Given the description of an element on the screen output the (x, y) to click on. 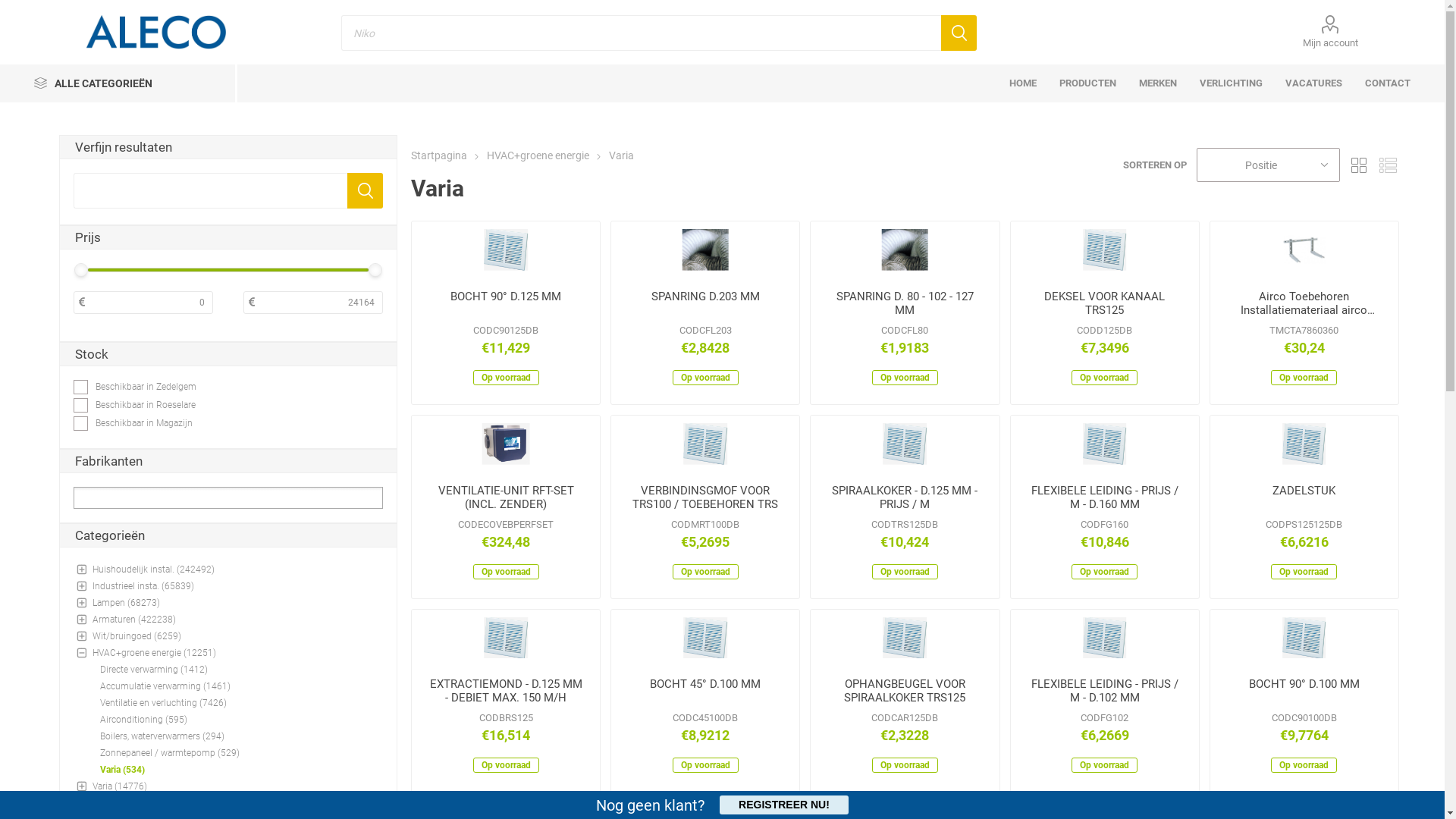
SPANRING D. 80 - 102 - 127 MM Element type: text (904, 303)
Toon details van SPANRING D.203 MM Element type: hover (705, 249)
SPIRAALKOKER - D.125 MM - PRIJS / M Element type: text (904, 497)
EXTRACTIEMOND - D.125 MM - DEBIET MAX. 150 M/H Element type: text (505, 691)
Industrieel insta. (65839) Element type: text (143, 585)
ZOEK Element type: text (958, 32)
SPANRING D.203 MM Element type: text (705, 303)
Home building automation (6968) Element type: text (161, 802)
Toon details van DEKSEL VOOR KANAAL TRS125 Element type: hover (1104, 249)
Toon details van ZADELSTUK Element type: hover (1304, 443)
MERKEN Element type: text (1157, 83)
Varia (534) Element type: text (122, 769)
Boilers, waterverwarmers (294) Element type: text (162, 736)
HVAC+groene energie Element type: text (538, 155)
Airconditioning (595) Element type: text (143, 719)
ZOEK Element type: text (364, 190)
Armaturen (422238) Element type: text (133, 619)
Airco Toebehoren Installatiemateriaal airco MS230 Element type: text (1304, 303)
DEKSEL VOOR KANAAL TRS125 Element type: text (1104, 303)
VERBINDINSGMOF VOOR TRS100 / TOEBEHOREN TRS Element type: text (705, 497)
Toon details van FLEXIBELE LEIDING - PRIJS / M - D.102 MM Element type: hover (1104, 637)
OPHANGBEUGEL VOOR SPIRAALKOKER TRS125 Element type: text (904, 691)
REGISTREER NU! Element type: text (783, 804)
HVAC+groene energie (12251) Element type: text (154, 652)
Aleco Element type: hover (155, 32)
Accumulatie verwarming (1461) Element type: text (165, 685)
Zonnepaneel / warmtepomp (529) Element type: text (169, 752)
Directe verwarming (1412) Element type: text (153, 669)
TABEL Element type: text (1358, 164)
PRODUCTEN Element type: text (1087, 83)
Toon details van SPANRING D. 80 - 102 - 127 MM Element type: hover (904, 249)
VACATURES Element type: text (1313, 83)
Ventilatie en verluchting (7426) Element type: text (163, 702)
Lampen (68273) Element type: text (126, 602)
HOME Element type: text (1022, 83)
Toon details van OPHANGBEUGEL VOOR SPIRAALKOKER TRS125 Element type: hover (905, 637)
Toon details van FLEXIBELE LEIDING - PRIJS / M - D.160 MM Element type: hover (1104, 443)
CONTACT Element type: text (1387, 83)
VENTILATIE-UNIT RFT-SET (INCL. ZENDER) Element type: text (505, 497)
Toon details van VENTILATIE-UNIT RFT-SET (INCL. ZENDER) Element type: hover (506, 443)
Wit/bruingoed (6259) Element type: text (136, 635)
VERLICHTING Element type: text (1231, 83)
Mijn account Element type: text (1330, 31)
ZADELSTUK Element type: text (1304, 497)
Toon details van VERBINDINSGMOF VOOR TRS100 / TOEBEHOREN TRS Element type: hover (705, 443)
Varia (14776) Element type: text (119, 786)
Huishoudelijk instal. (242492) Element type: text (153, 569)
Toon details van SPIRAALKOKER - D.125 MM - PRIJS / M Element type: hover (905, 443)
LIJST Element type: text (1387, 164)
Startpagina Element type: text (439, 155)
FLEXIBELE LEIDING - PRIJS / M - D.160 MM Element type: text (1104, 497)
FLEXIBELE LEIDING - PRIJS / M - D.102 MM Element type: text (1104, 691)
